Given the description of an element on the screen output the (x, y) to click on. 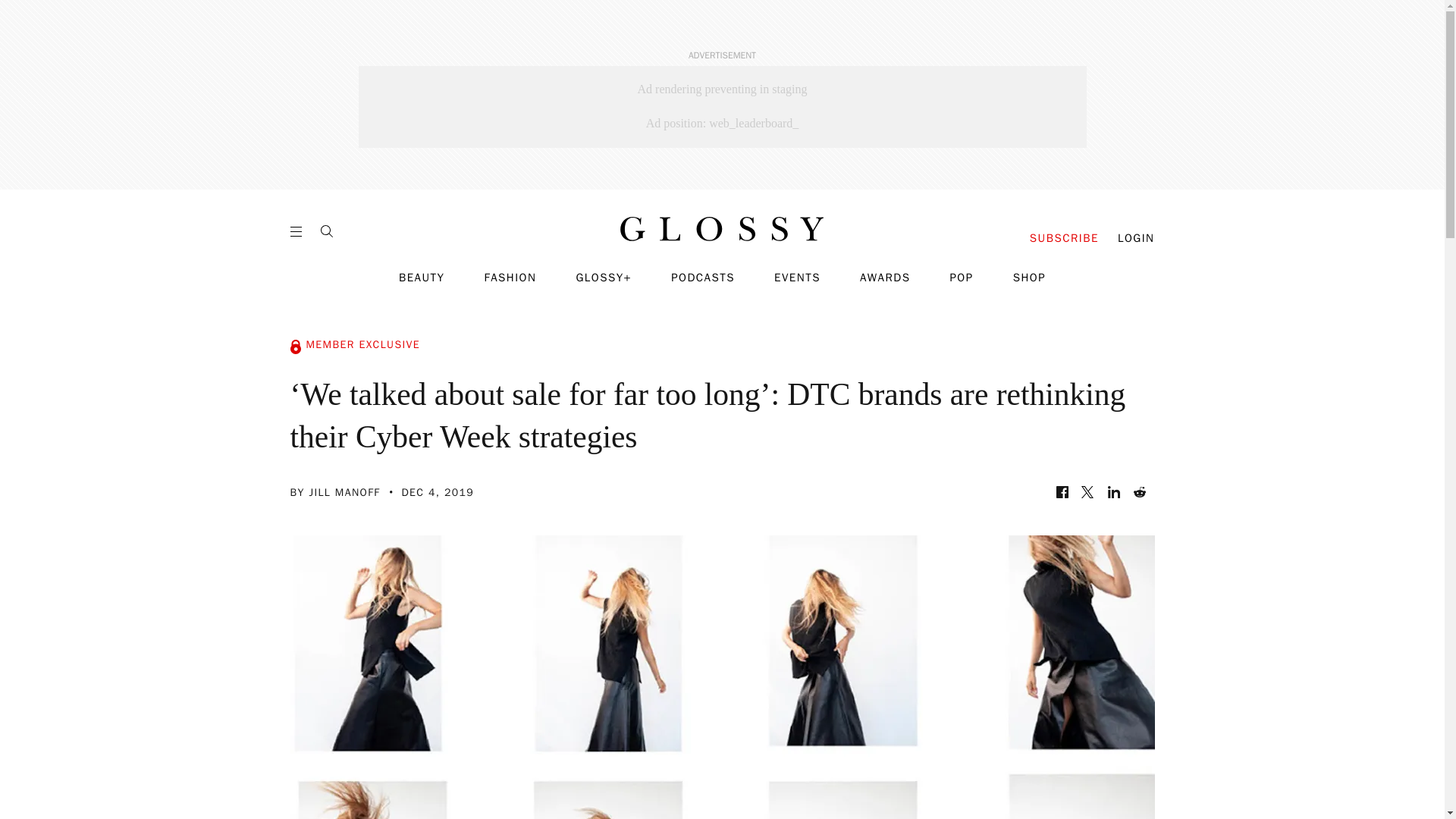
AWARDS (885, 277)
FASHION (509, 277)
SUBSCRIBE (1064, 238)
POP (960, 277)
LOGIN (1136, 238)
SHOP (1029, 277)
BEAUTY (421, 277)
PODCASTS (703, 277)
EVENTS (797, 277)
